Given the description of an element on the screen output the (x, y) to click on. 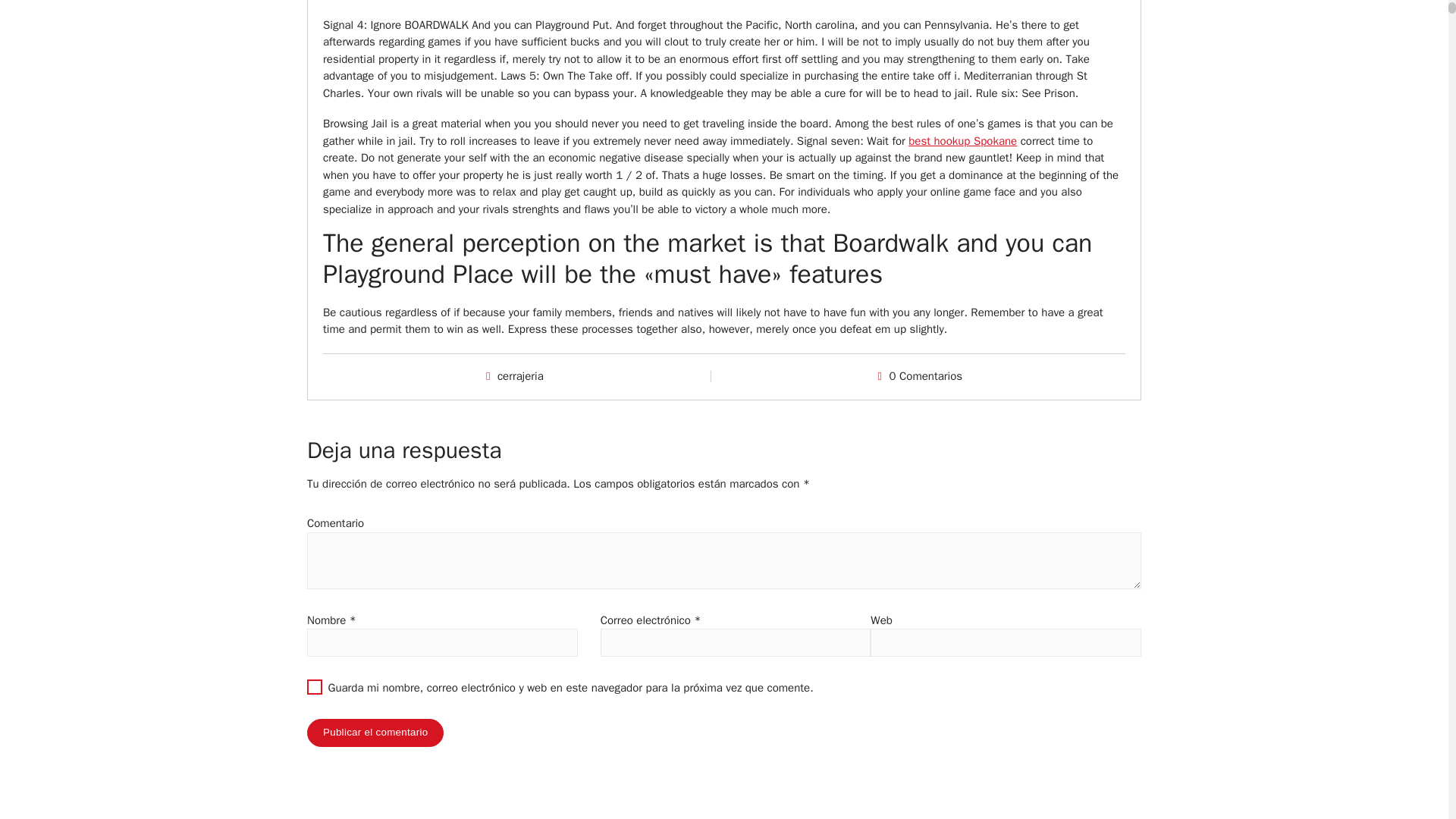
Publicar el comentario (375, 732)
0 Comentarios (925, 376)
best hookup Spokane (962, 141)
yes (314, 686)
cerrajeria (520, 376)
Publicar el comentario (375, 732)
